Given the description of an element on the screen output the (x, y) to click on. 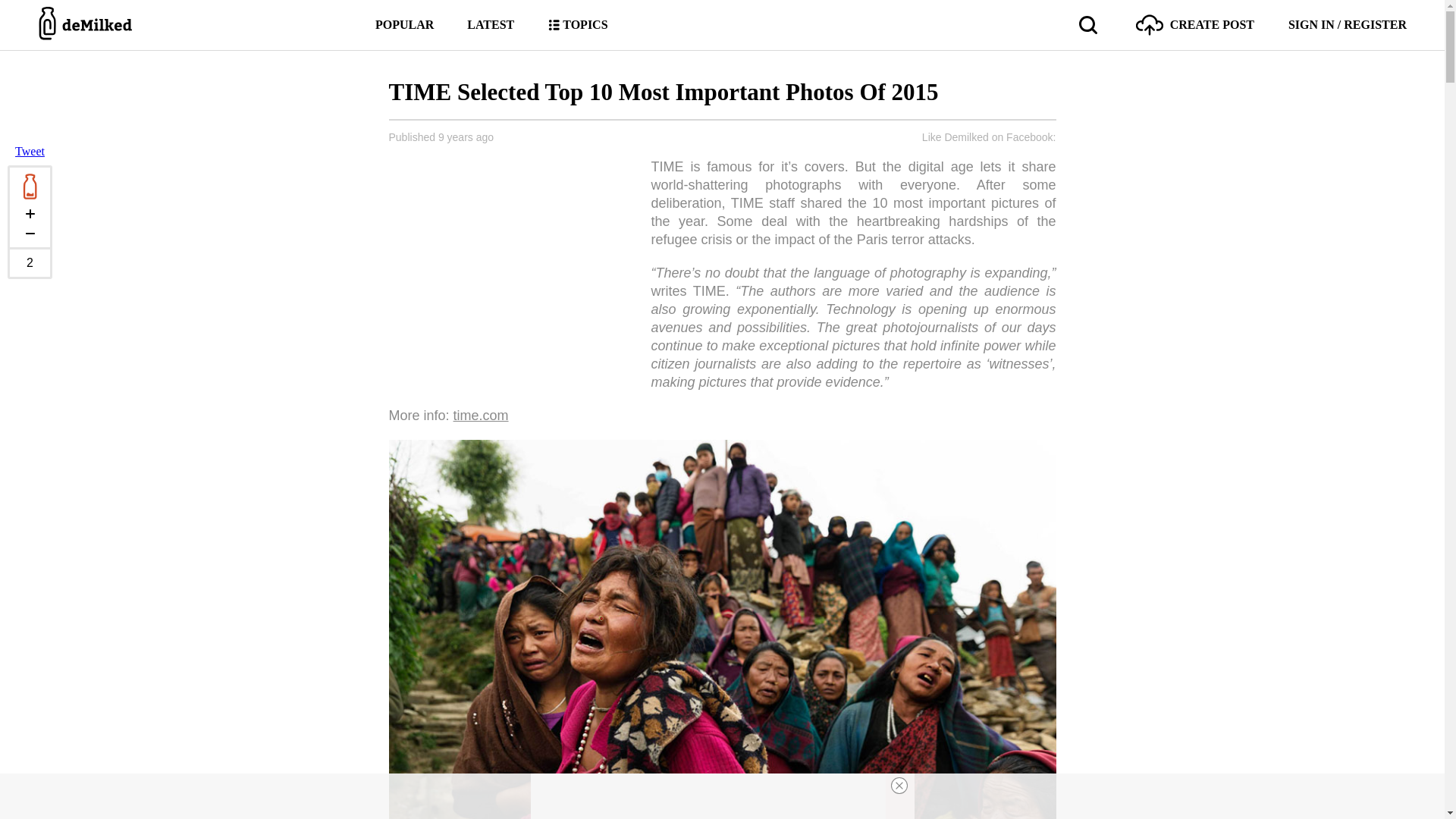
TOPICS (577, 24)
3rd party ad content (509, 263)
CREATE POST (1194, 24)
3rd party ad content (708, 796)
LATEST (490, 24)
POPULAR (404, 24)
